Given the description of an element on the screen output the (x, y) to click on. 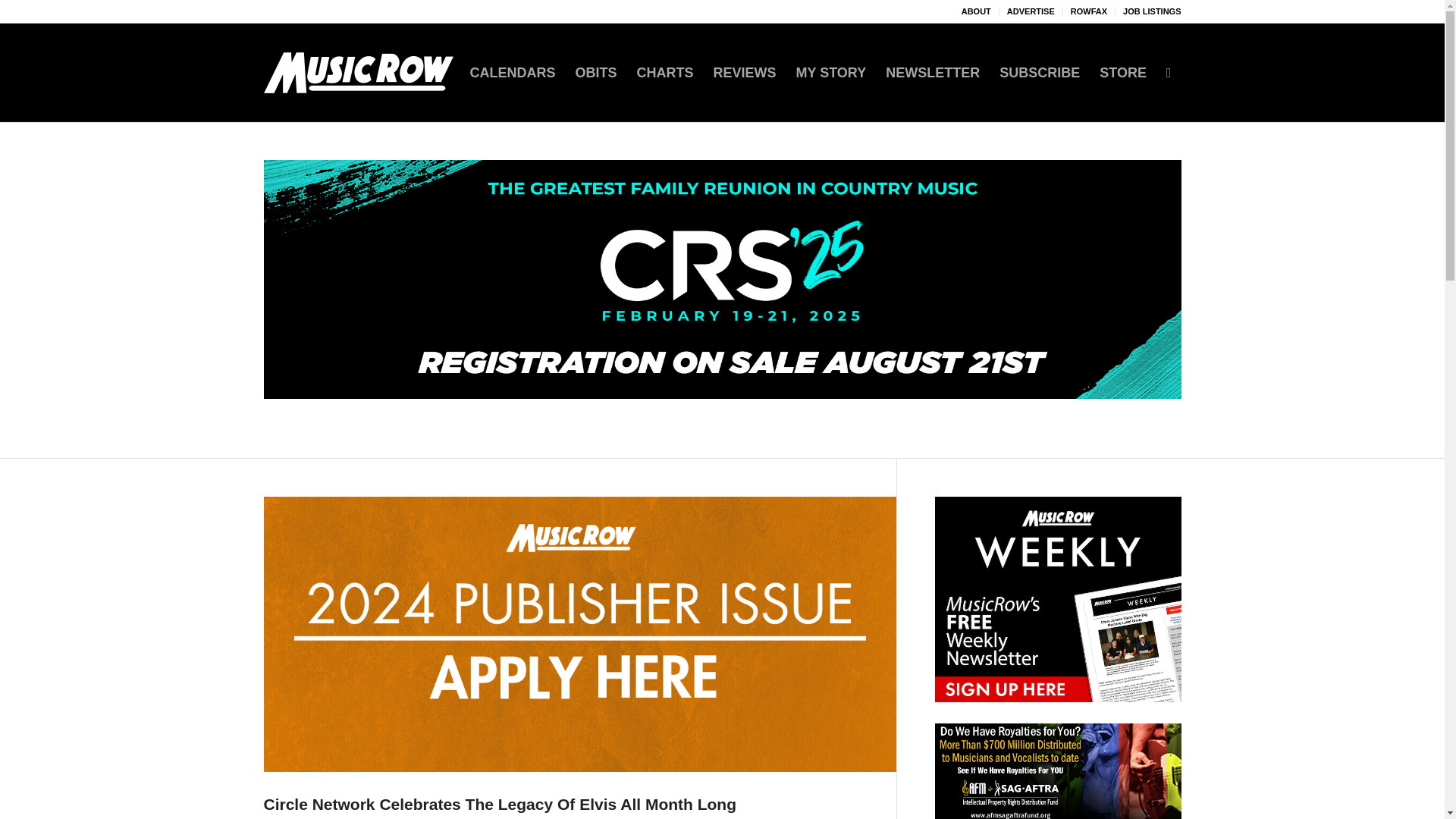
ADVERTISE (1030, 11)
JOB LISTINGS (1151, 11)
SUBSCRIBE (1039, 72)
MusicRow-header-logo-Mar19B (357, 72)
ABOUT (975, 11)
CALENDARS (512, 72)
ROWFAX (1088, 11)
NEWSLETTER (933, 72)
MY STORY (831, 72)
